Given the description of an element on the screen output the (x, y) to click on. 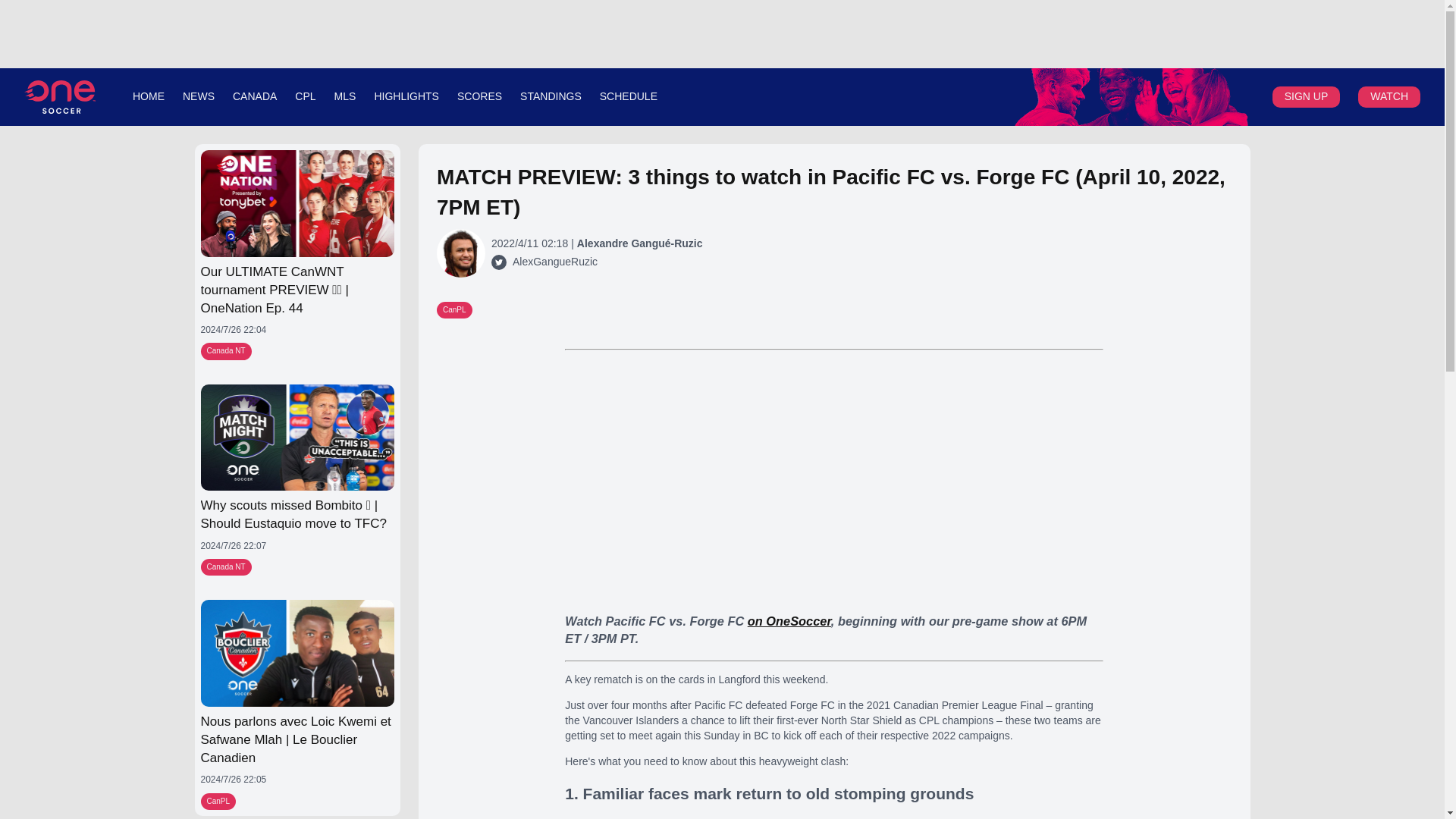
on OneSoccer (789, 621)
AlexGangueRuzic (498, 262)
HOME (148, 96)
CANADA (254, 96)
YouTube video player (833, 480)
SCHEDULE (628, 96)
NEWS (198, 96)
HIGHLIGHTS (406, 96)
SIGN UP (1305, 96)
WATCH (1388, 96)
CPL (305, 96)
SCORES (479, 96)
AlexGangueRuzic (554, 262)
Canadian Premier League (60, 96)
STANDINGS (549, 96)
